Given the description of an element on the screen output the (x, y) to click on. 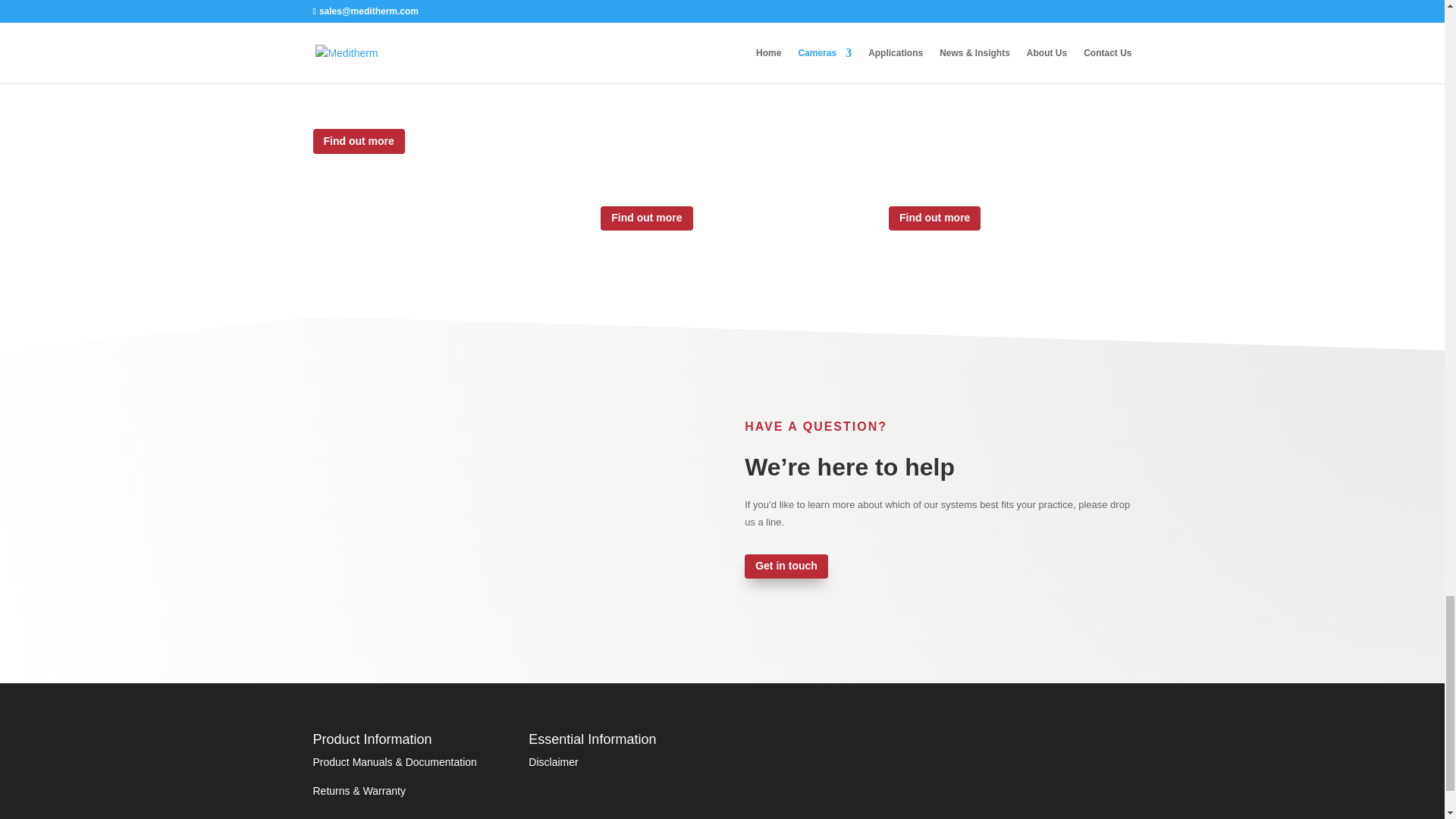
Get in touch (786, 566)
Find out more (646, 218)
Find out more (358, 140)
Disclaimer (553, 761)
Find out more (933, 218)
